Given the description of an element on the screen output the (x, y) to click on. 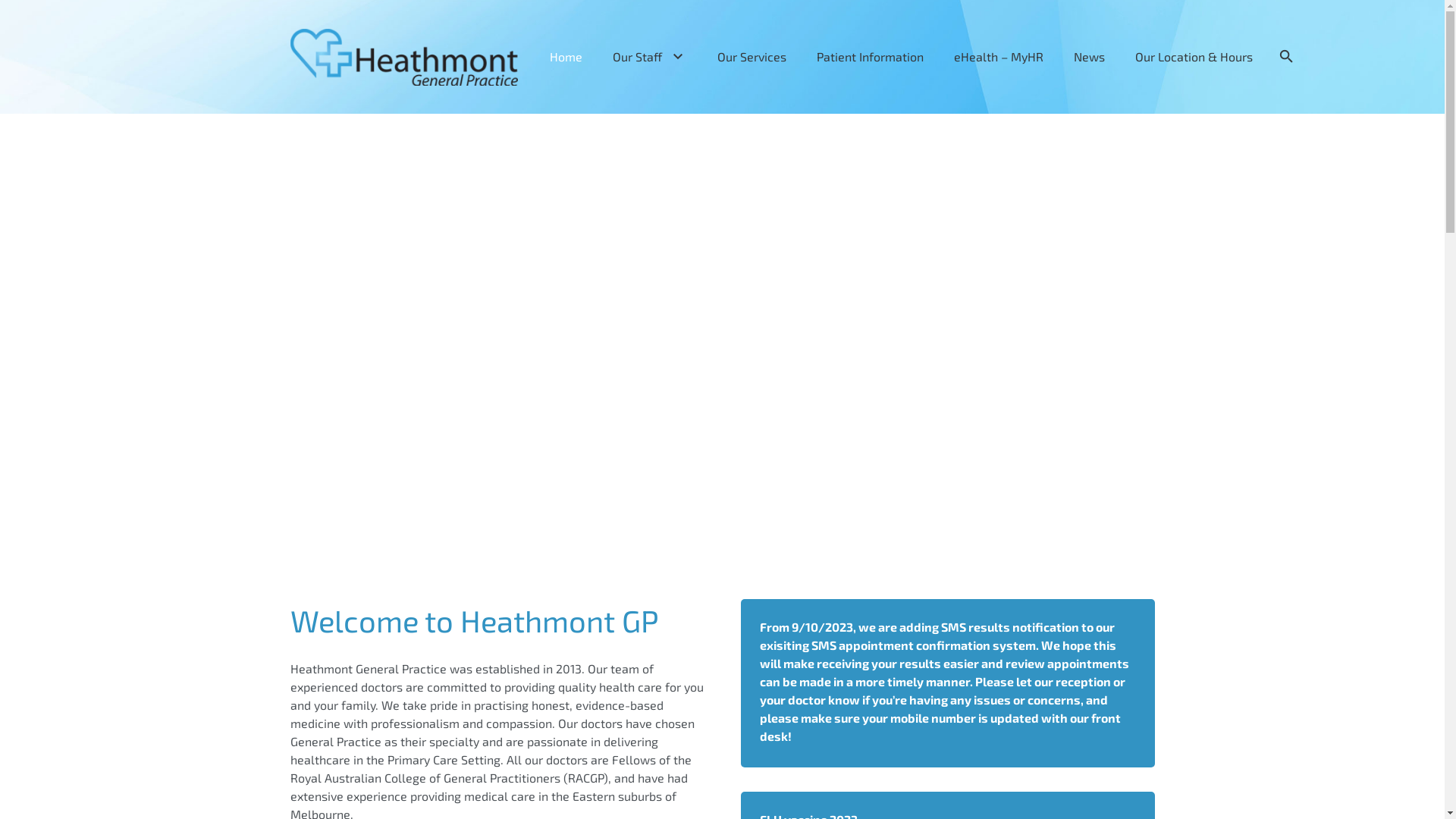
Patient Information Element type: text (869, 56)
News Element type: text (1089, 56)
Our Services Element type: text (751, 56)
Home Element type: text (565, 56)
Our Location & Hours Element type: text (1193, 56)
Our Staff Element type: text (649, 56)
